Given the description of an element on the screen output the (x, y) to click on. 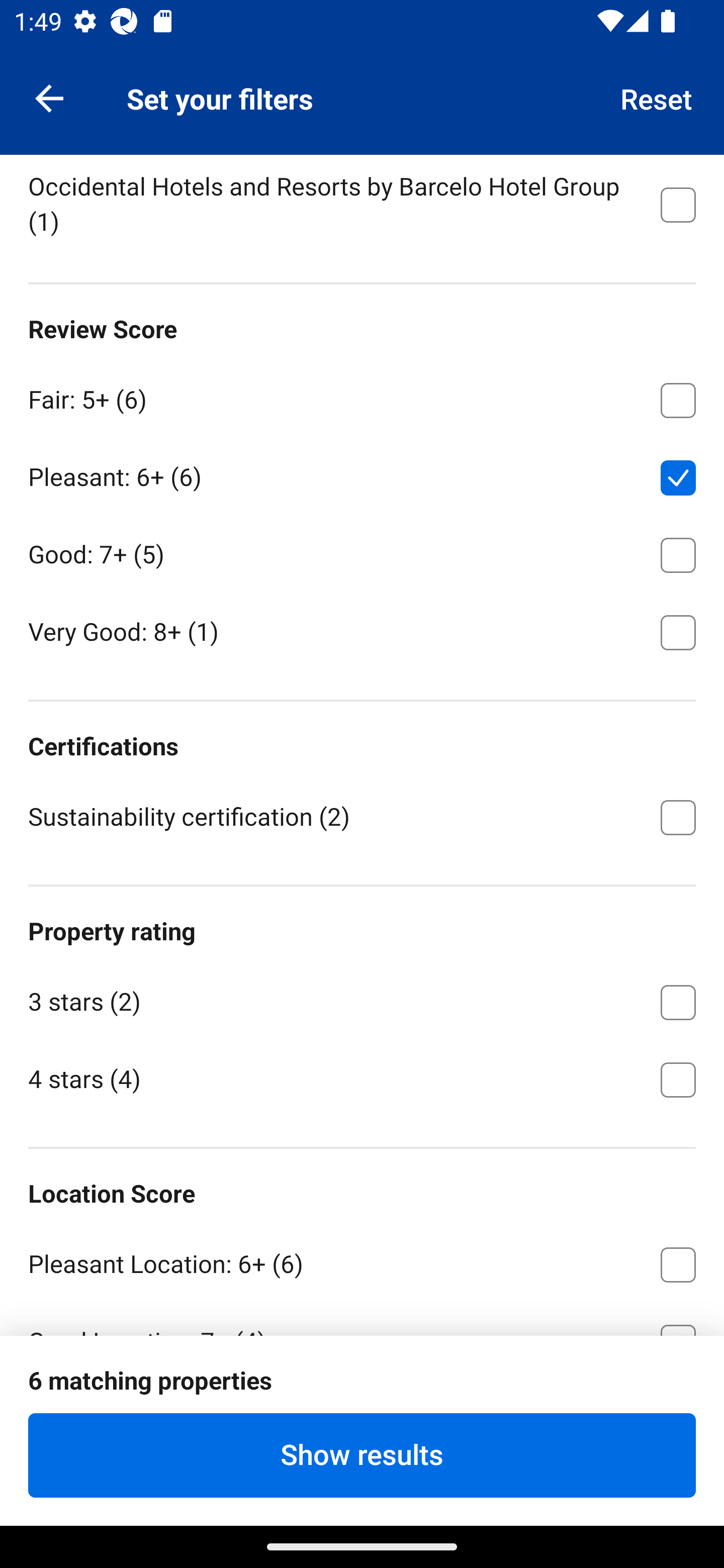
Navigate up (49, 97)
Reset (656, 97)
Fair: 5+ ⁦(6) (361, 397)
Pleasant: 6+ ⁦(6) (361, 473)
Good: 7+ ⁦(5) (361, 551)
Very Good: 8+ ⁦(1) (361, 631)
Sustainability certification ⁦(2) (361, 816)
3 stars ⁦(2) (361, 998)
4 stars ⁦(4) (361, 1077)
Pleasant Location: 6+ ⁦(6) (361, 1261)
Show results (361, 1454)
